Given the description of an element on the screen output the (x, y) to click on. 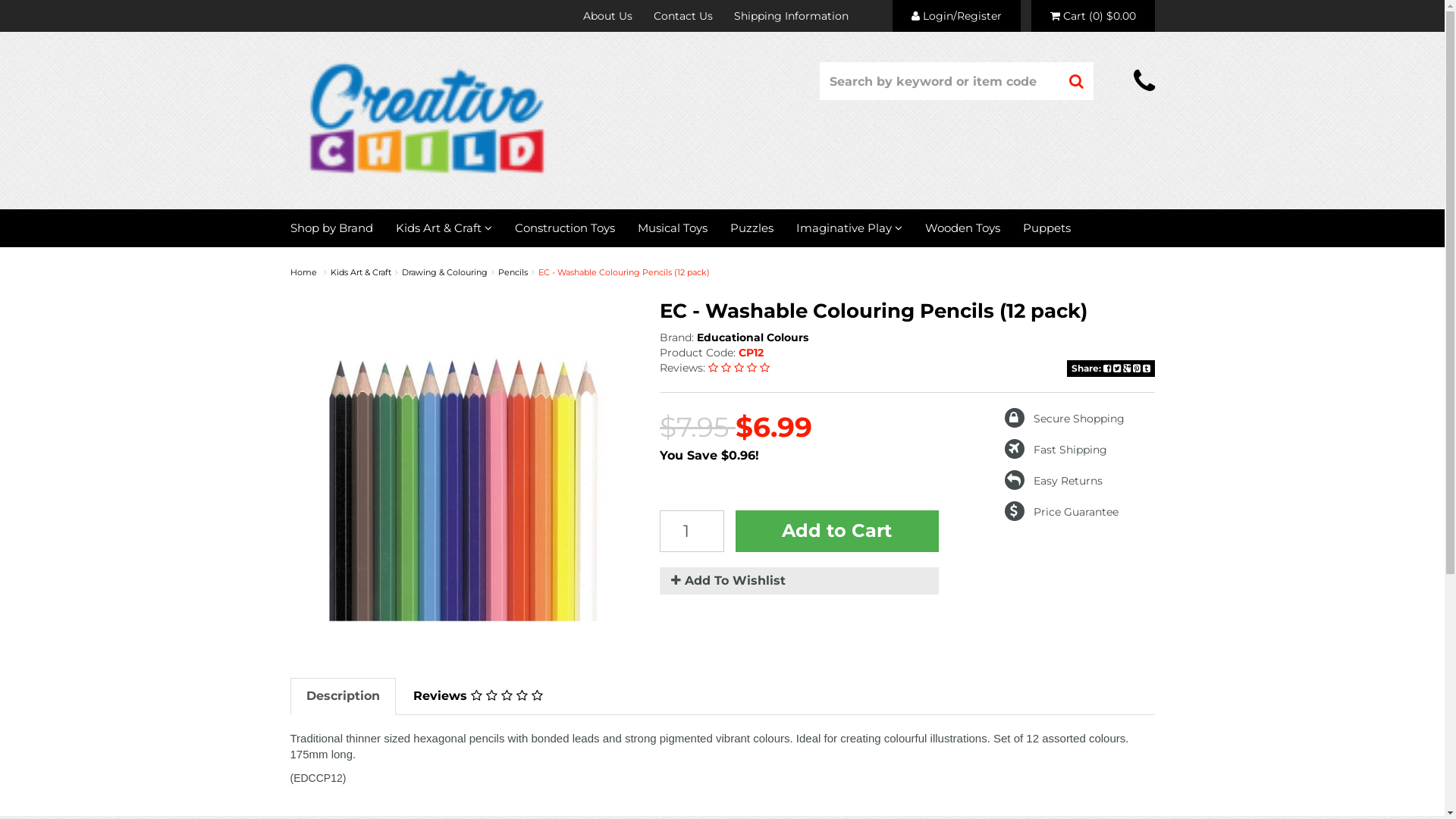
 Price Guarantee Element type: text (1061, 511)
Shop by Brand Element type: text (336, 228)
Search Element type: text (1076, 81)
Login/Register Element type: text (955, 15)
 Easy Returns Element type: text (1053, 480)
Creative Child Element type: hover (425, 117)
Educational Colours Element type: text (752, 337)
EC - Washable Colouring Pencils (12 pack) Element type: text (623, 271)
Puppets Element type: text (1046, 228)
Share: Element type: text (1110, 368)
Drawing & Colouring Element type: text (444, 271)
Wooden Toys Element type: text (961, 228)
Kids Art & Craft Element type: text (442, 228)
Imaginative Play Element type: text (848, 228)
Contact Us Element type: text (683, 15)
Home Element type: text (302, 271)
Pencils Element type: text (512, 271)
Cart (0) $0.00 Element type: text (1092, 15)
Musical Toys Element type: text (672, 228)
Shipping Information Element type: text (791, 15)
Reviews Element type: text (477, 696)
Puzzles Element type: text (751, 228)
 Secure Shopping Element type: text (1064, 418)
Add to Cart Element type: text (837, 531)
About Us Element type: text (606, 15)
Construction Toys Element type: text (564, 228)
Kids Art & Craft Element type: text (360, 271)
Add To Wishlist Element type: text (798, 581)
Description Element type: text (342, 696)
 Fast Shipping Element type: text (1055, 449)
